Given the description of an element on the screen output the (x, y) to click on. 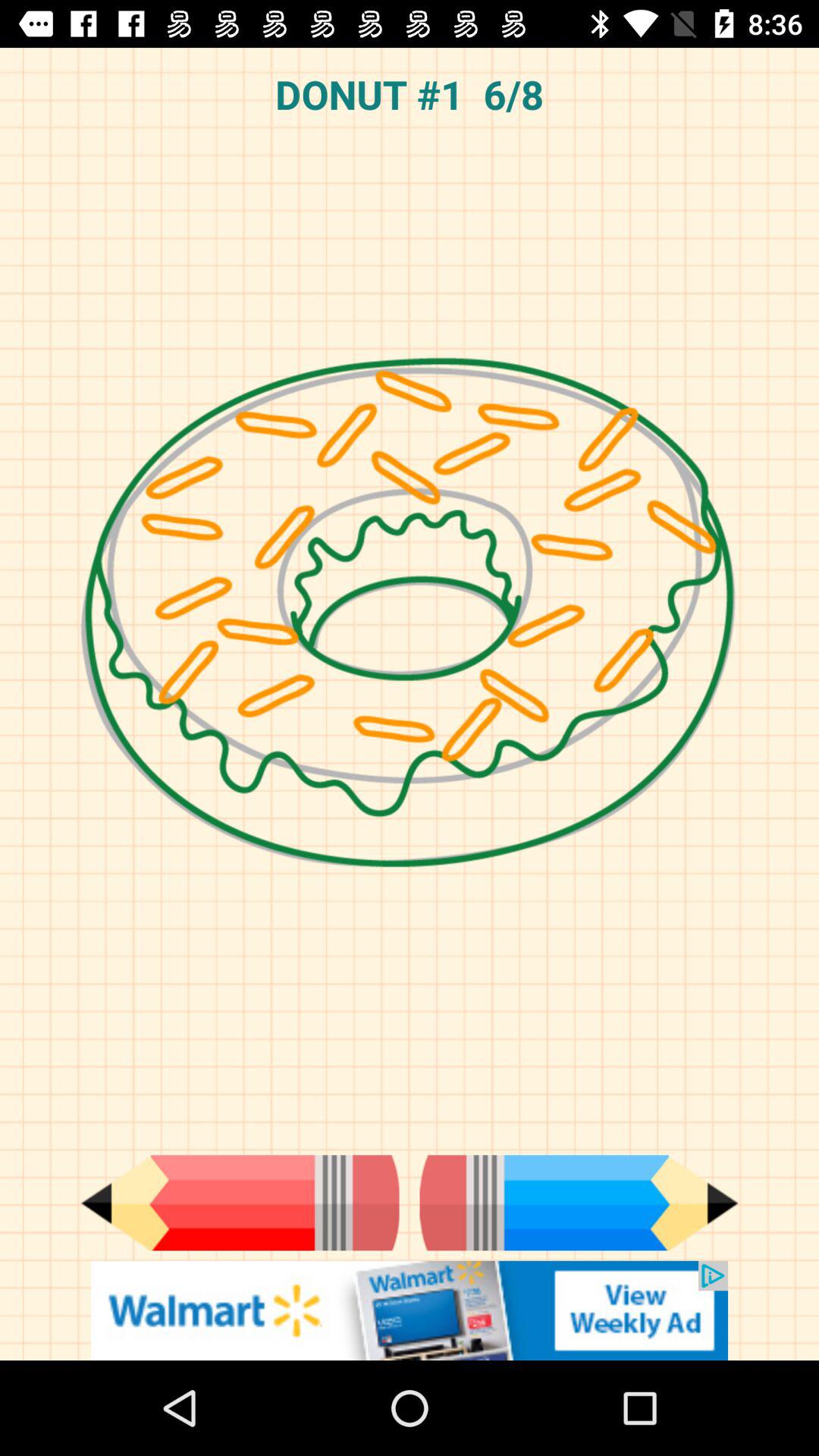
back (239, 1202)
